Given the description of an element on the screen output the (x, y) to click on. 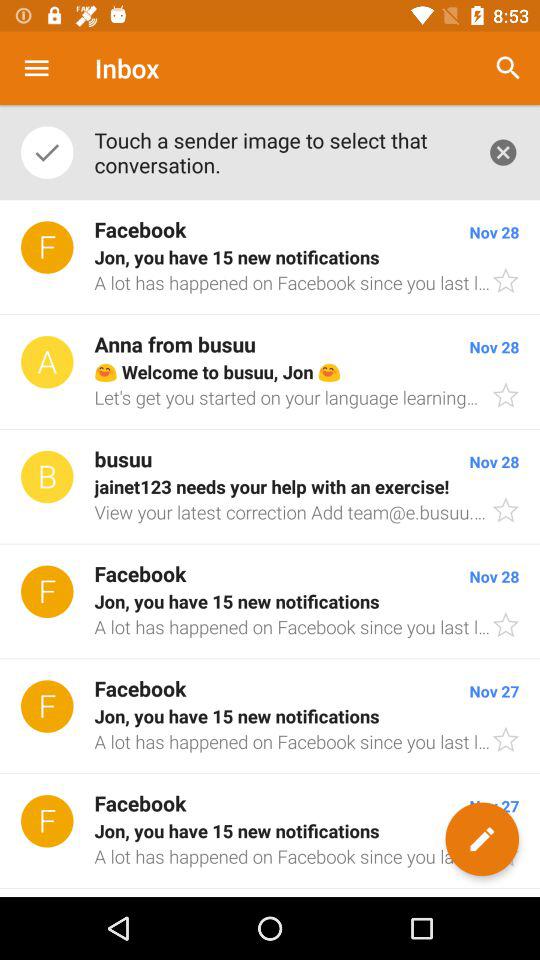
press app below the inbox item (280, 152)
